Given the description of an element on the screen output the (x, y) to click on. 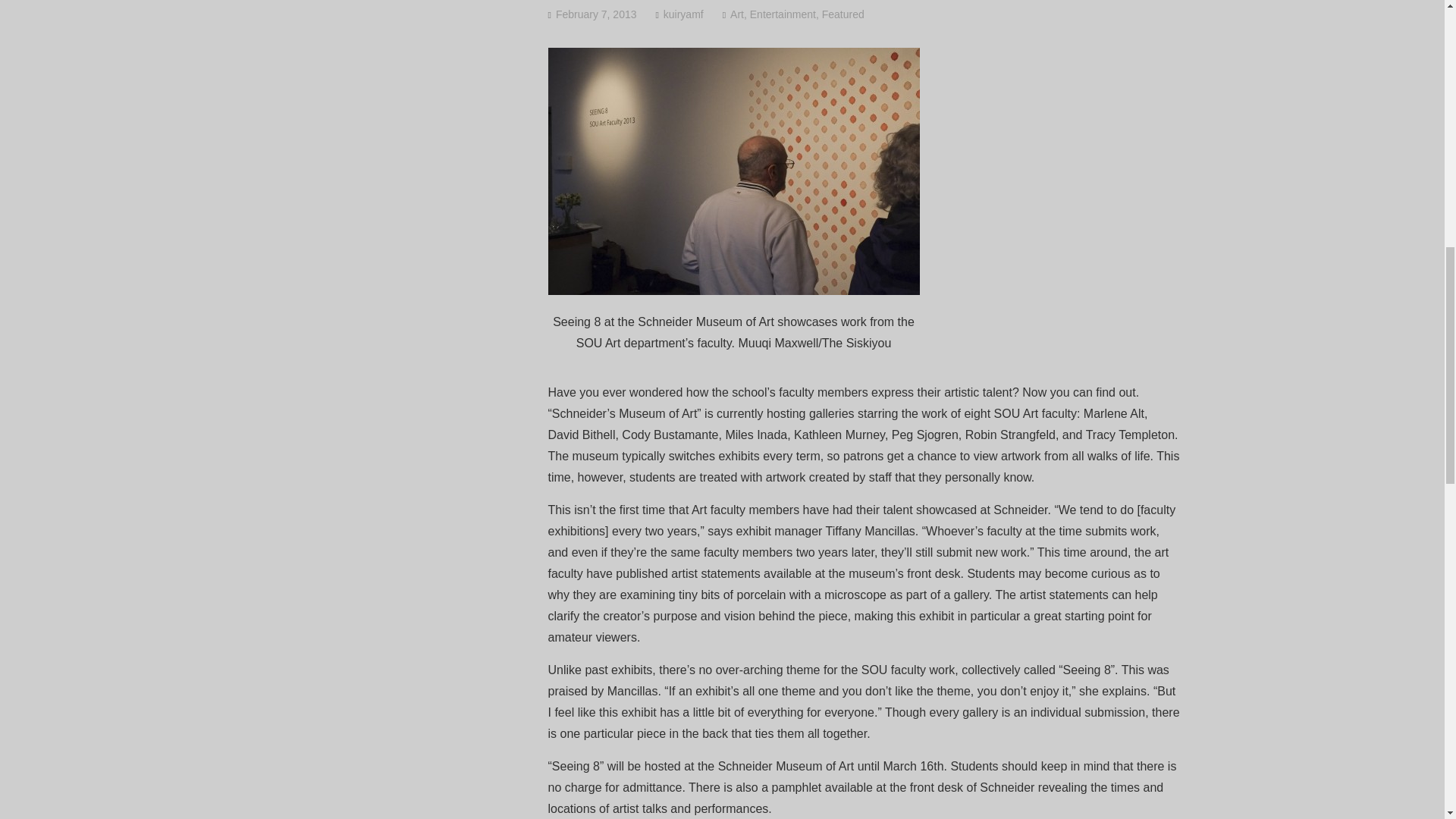
February 7, 2013 (596, 14)
